Given the description of an element on the screen output the (x, y) to click on. 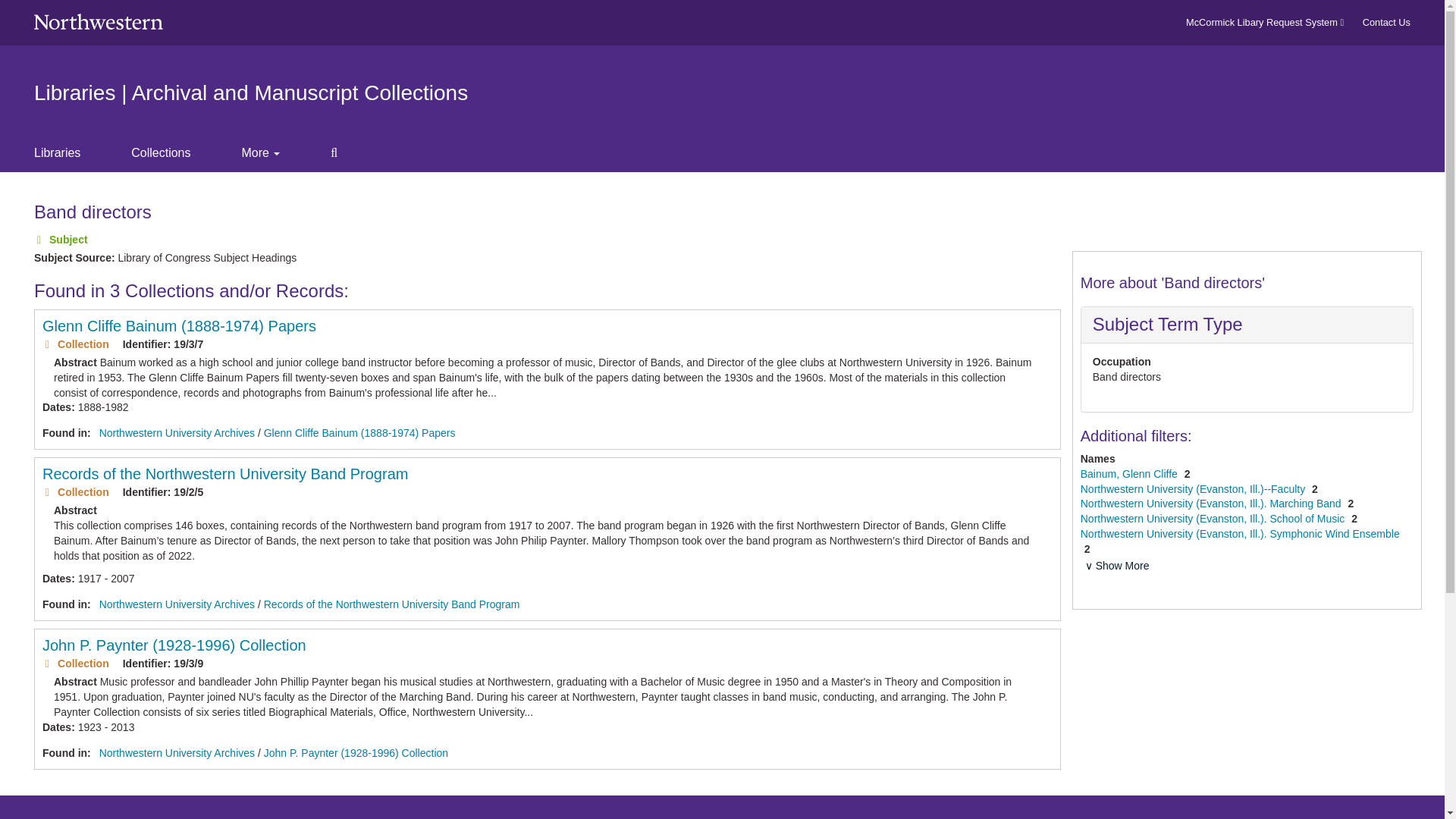
Records of the Northwestern University Band Program (391, 604)
Northwestern University Archives (176, 604)
Contact Us (1386, 21)
Page Actions (1130, 194)
Return to Archival and Manuscripts Collections homepage (250, 92)
Search all Archival and Manuscript Collections (346, 152)
translation missing: en.dates (56, 407)
translation missing: en.dates (56, 727)
Filter By 'Bainum, Glenn Cliffe' (1130, 473)
Subject Term Type (1168, 323)
Collections (173, 152)
Libraries (69, 152)
Northwestern University Archives (176, 752)
Bainum, Glenn Cliffe (1130, 473)
translation missing: en.dates (56, 578)
